Given the description of an element on the screen output the (x, y) to click on. 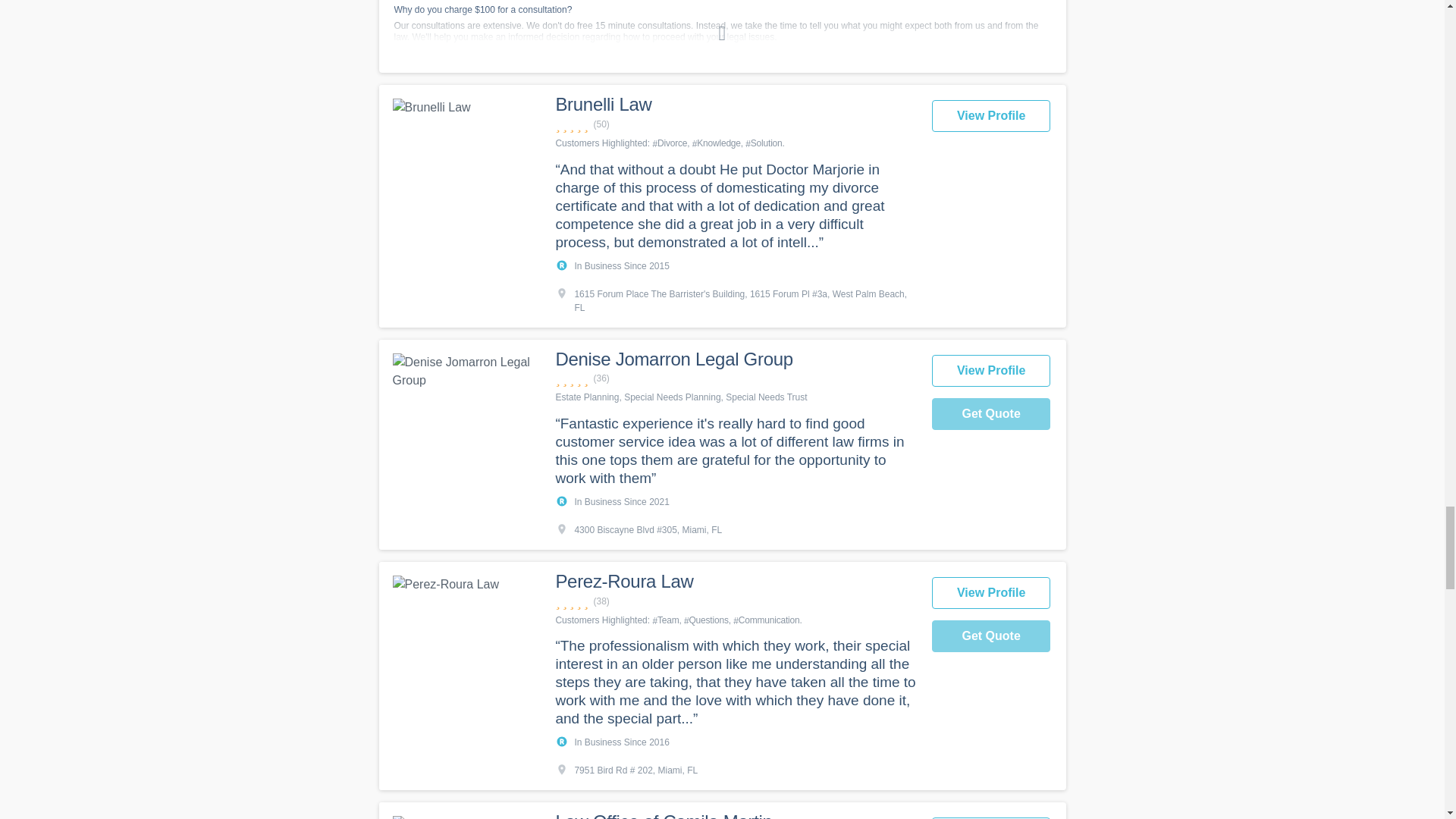
4.9 (734, 124)
4.9 (734, 378)
